Given the description of an element on the screen output the (x, y) to click on. 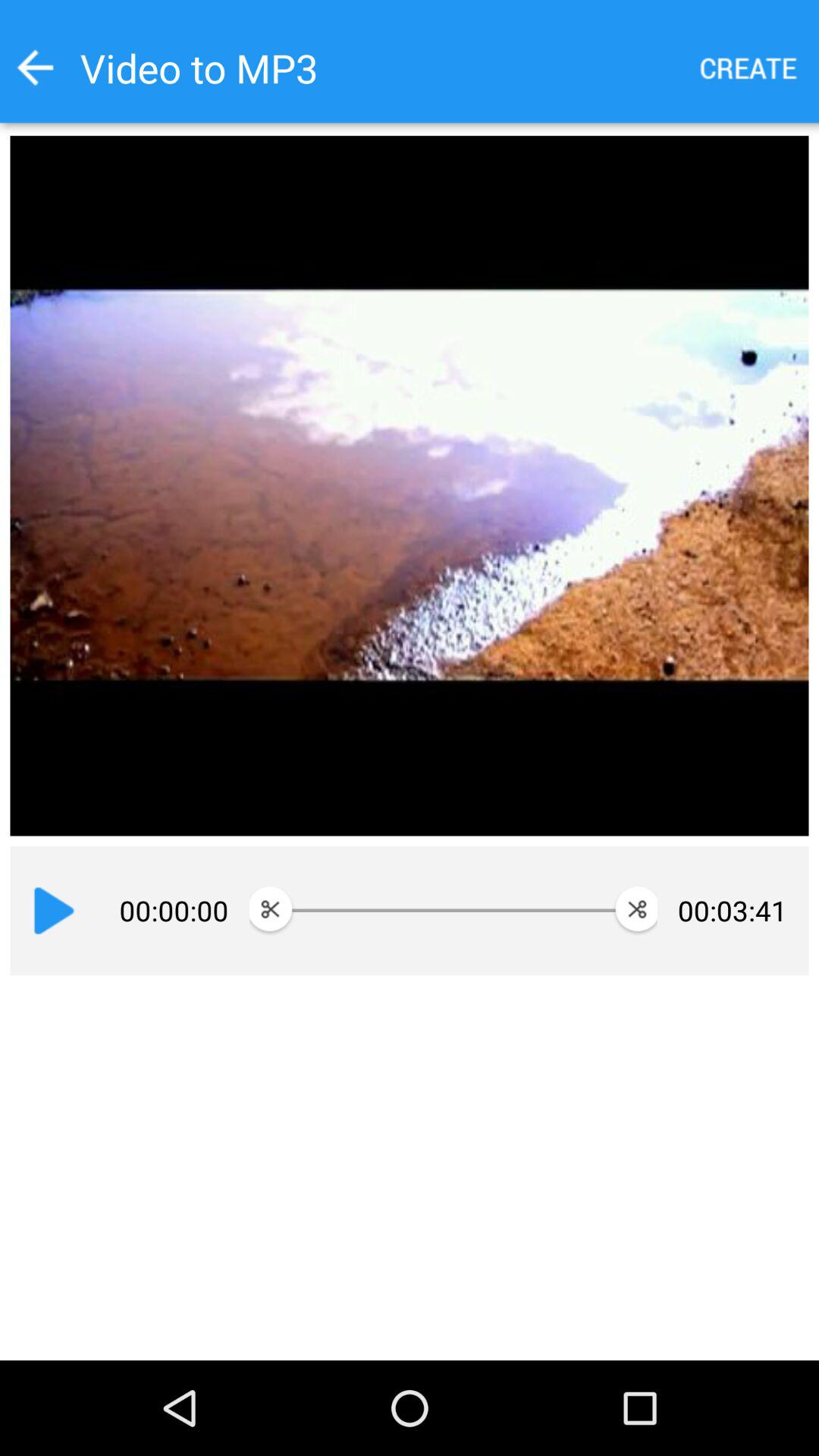
play video (54, 910)
